Given the description of an element on the screen output the (x, y) to click on. 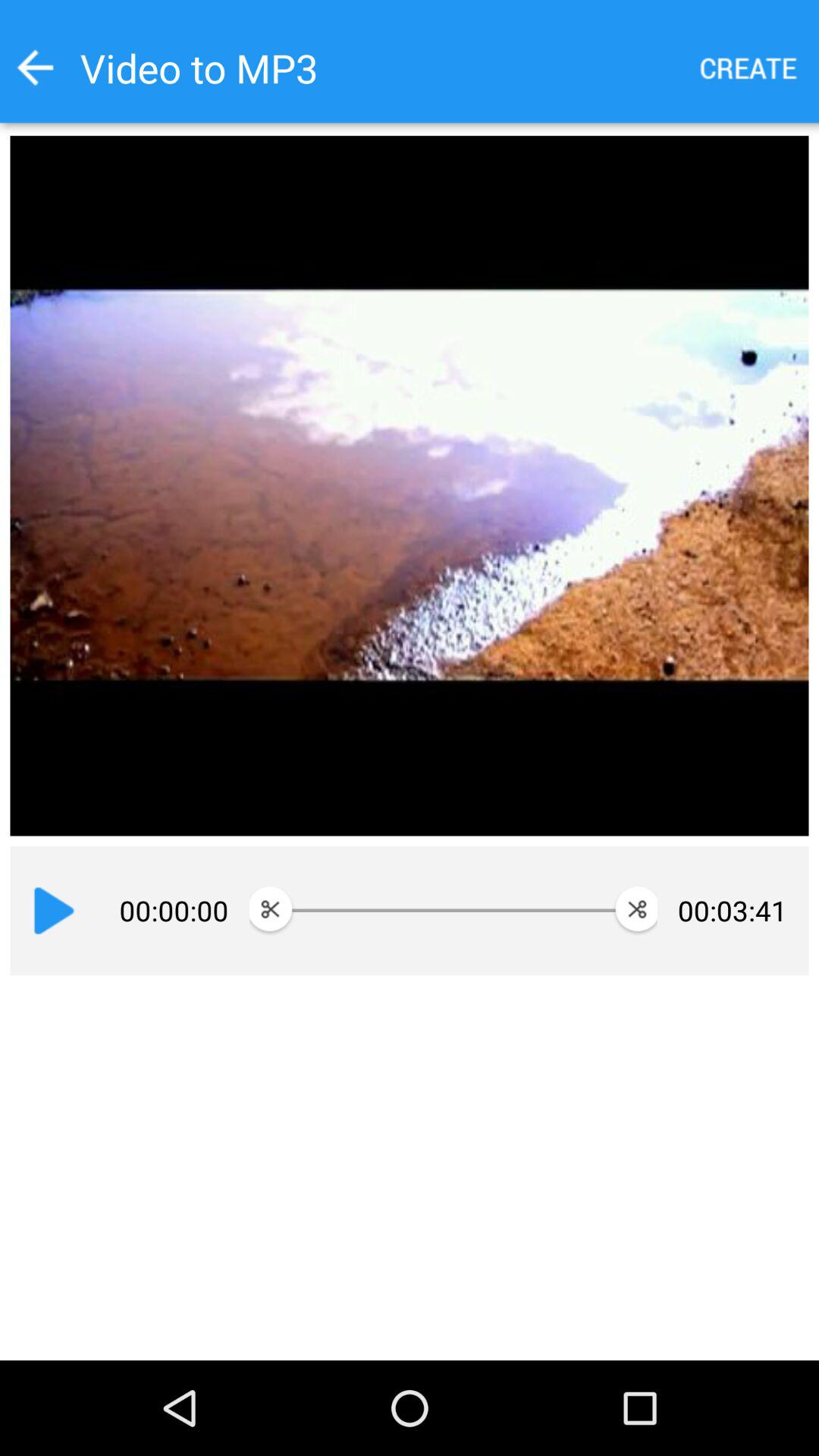
play video (54, 910)
